Given the description of an element on the screen output the (x, y) to click on. 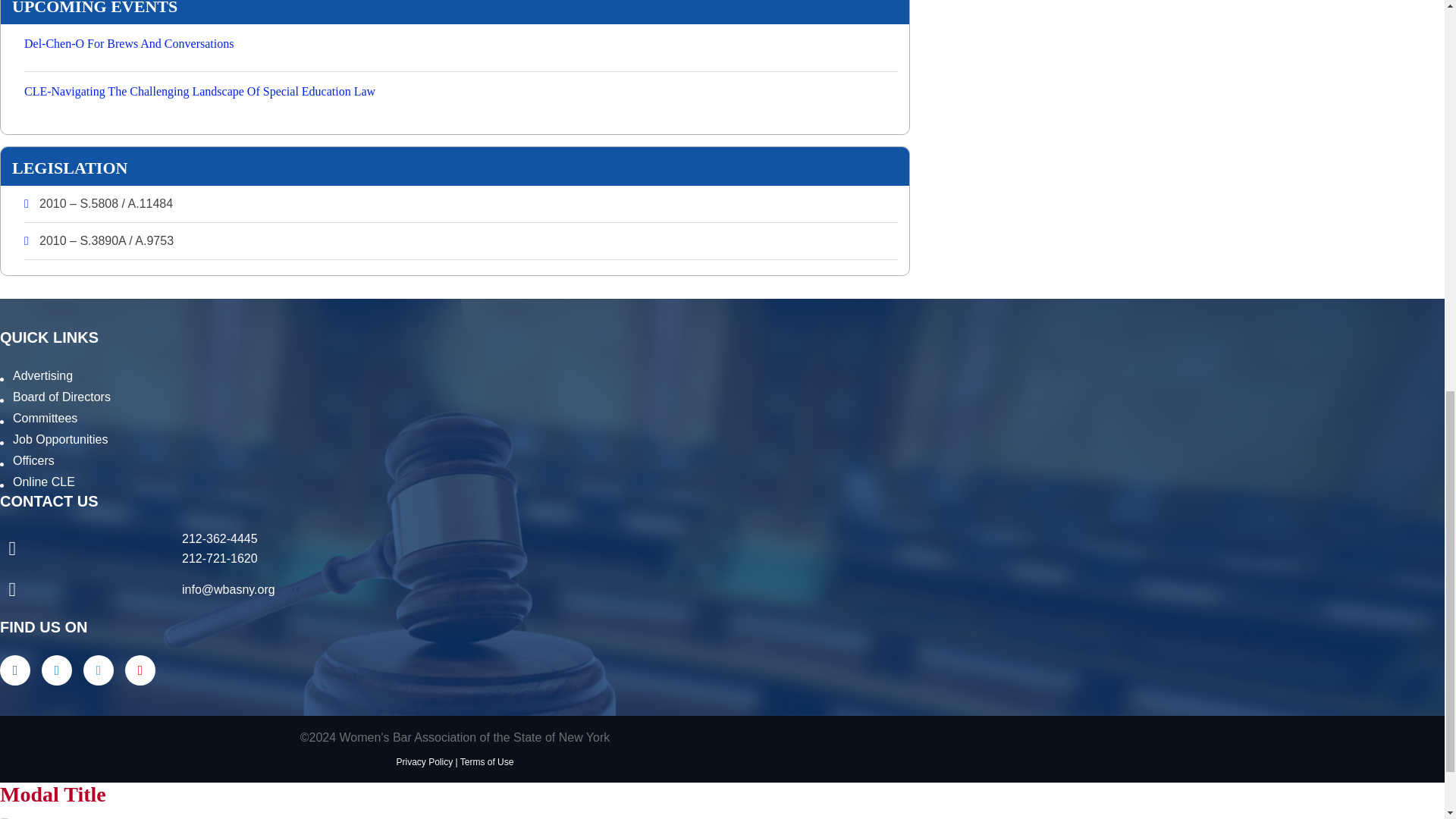
TERMS OF USE (486, 761)
PRIVACY POLICY (424, 761)
